Given the description of an element on the screen output the (x, y) to click on. 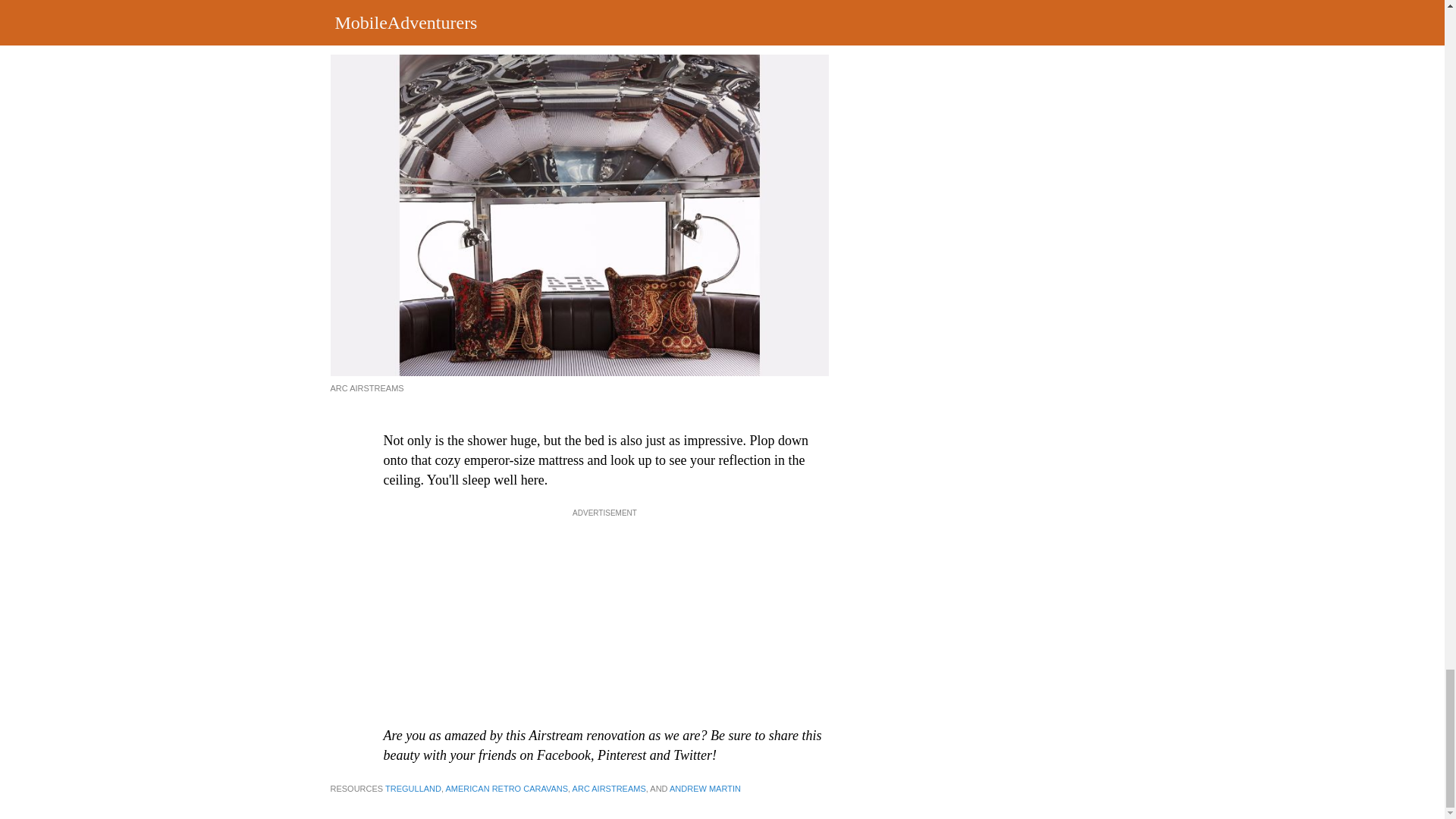
ARC AIRSTREAMS (609, 788)
TREGULLAND (413, 788)
ANDREW MARTIN (705, 788)
AMERICAN RETRO CARAVANS (507, 788)
ARC AIRSTREAMS (367, 388)
